Given the description of an element on the screen output the (x, y) to click on. 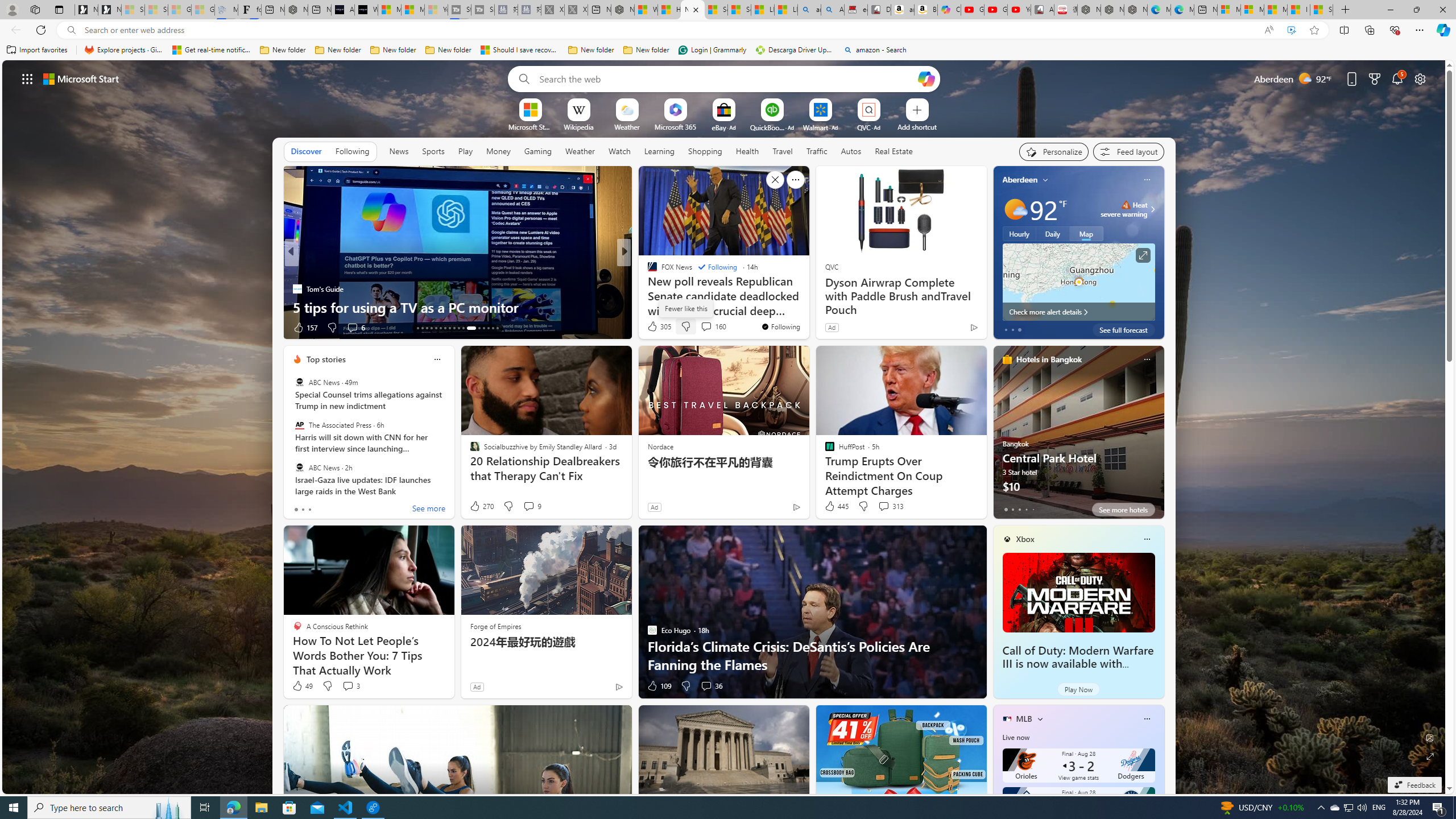
Search icon (70, 29)
Hotels in Bangkok (1048, 359)
Following (716, 266)
More interests (1039, 718)
AutomationID: tab-41 (488, 328)
It's officially the end for Windows 10! (807, 307)
Microsoft start (81, 78)
Autos (851, 151)
270 Like (480, 505)
Add this page to favorites (Ctrl+D) (1314, 29)
View comments 36 Comment (705, 685)
View comments 313 Comment (890, 505)
Aberdeen (1019, 179)
AutomationID: tab-17 (435, 328)
Dislike (685, 685)
